Given the description of an element on the screen output the (x, y) to click on. 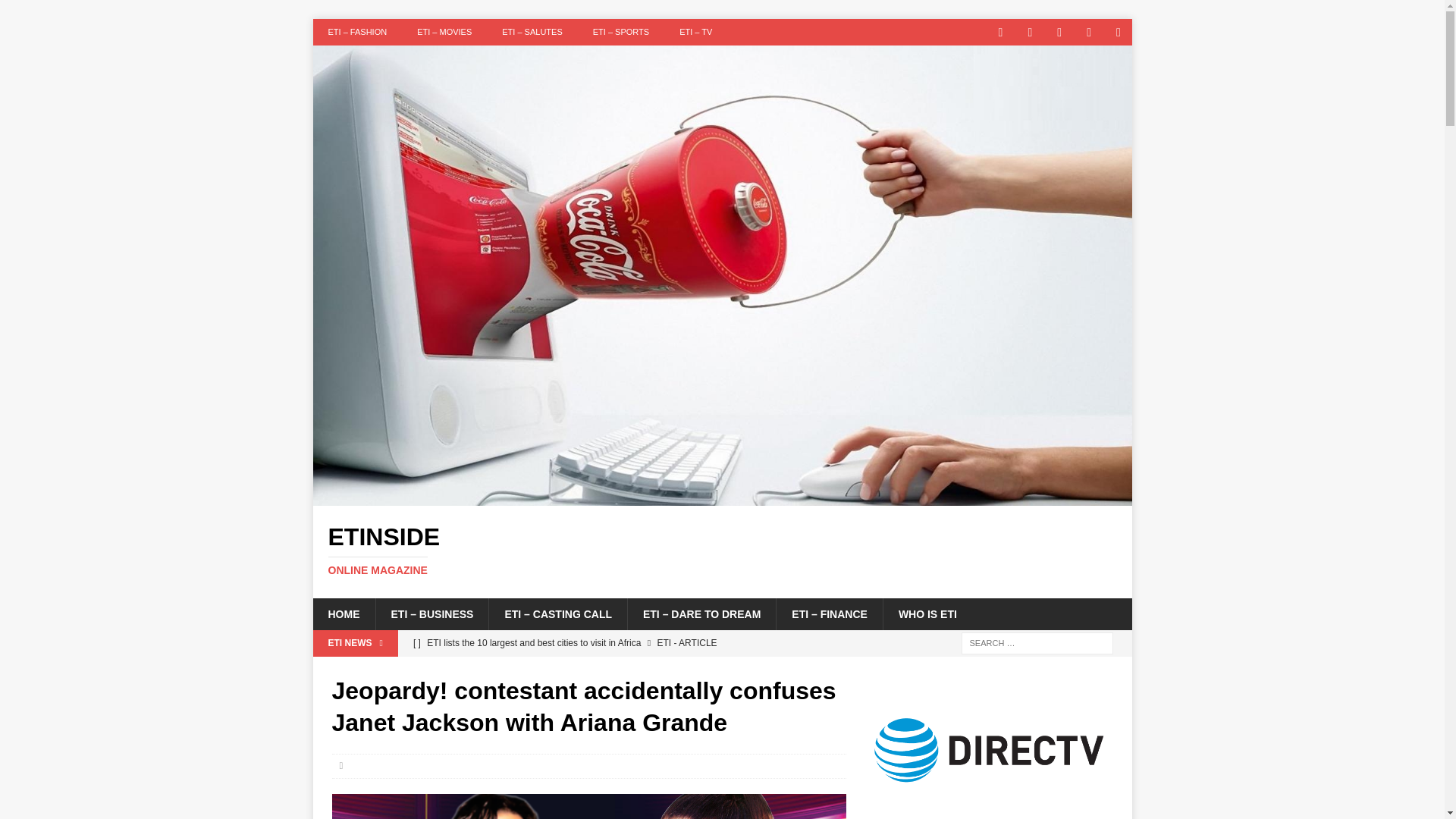
NEWS (588, 806)
ETI lists the 10 largest and best cities to visit in Africa (625, 642)
WHO IS ETI (721, 550)
ETInside (927, 613)
Search (721, 550)
ETInside (56, 11)
HOME (722, 497)
